Given the description of an element on the screen output the (x, y) to click on. 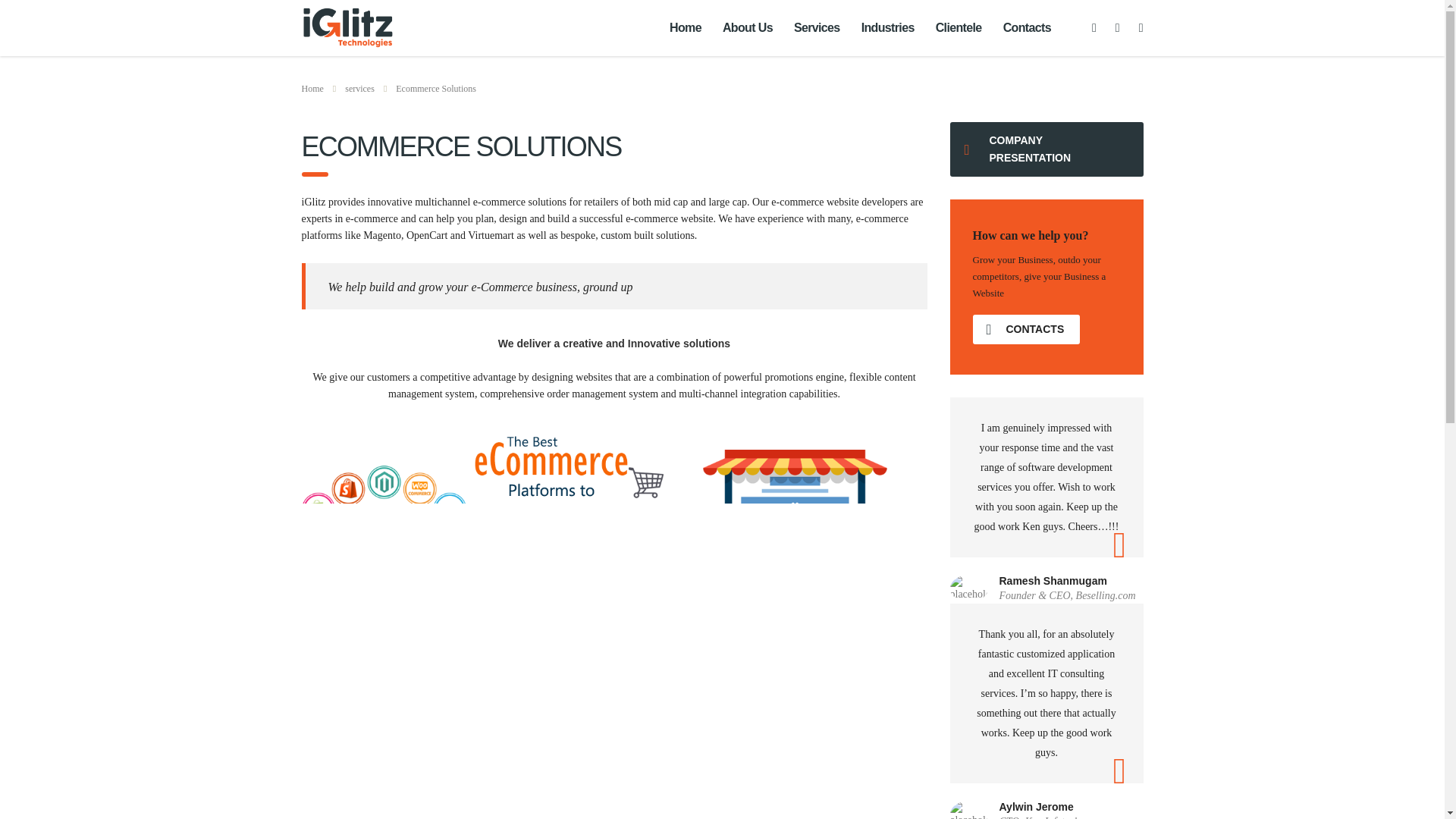
Clientele (958, 28)
Industries (887, 28)
Contacts (1026, 28)
Services (816, 28)
Go to . (312, 88)
Home (685, 28)
Go to services. (359, 88)
About Us (747, 28)
